Given the description of an element on the screen output the (x, y) to click on. 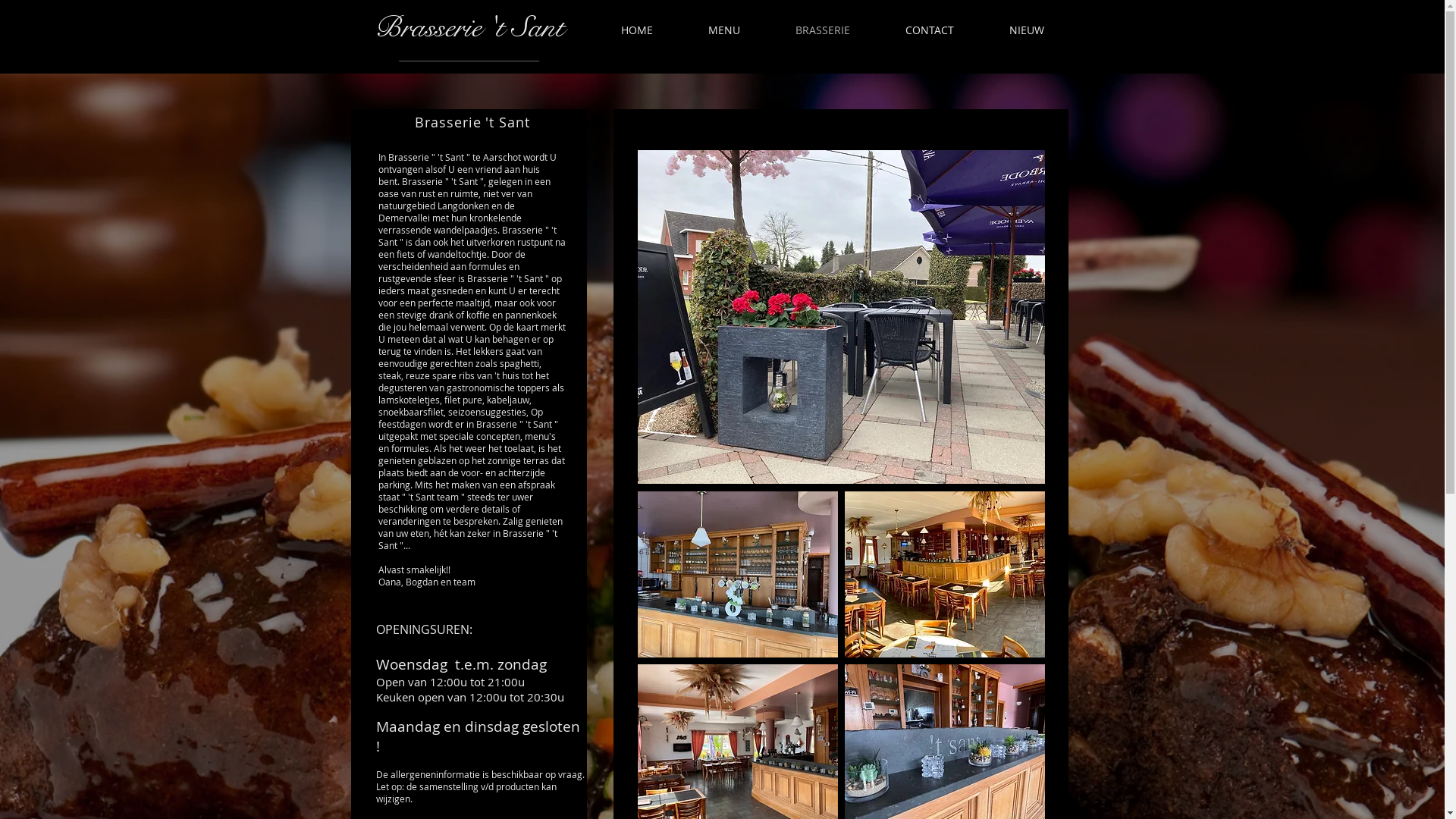
MENU Element type: text (724, 30)
CONTACT Element type: text (930, 30)
Brasserie 't Sant Element type: text (469, 27)
NIEUW Element type: text (1025, 30)
HOME Element type: text (636, 30)
BRASSERIE Element type: text (822, 30)
